Given the description of an element on the screen output the (x, y) to click on. 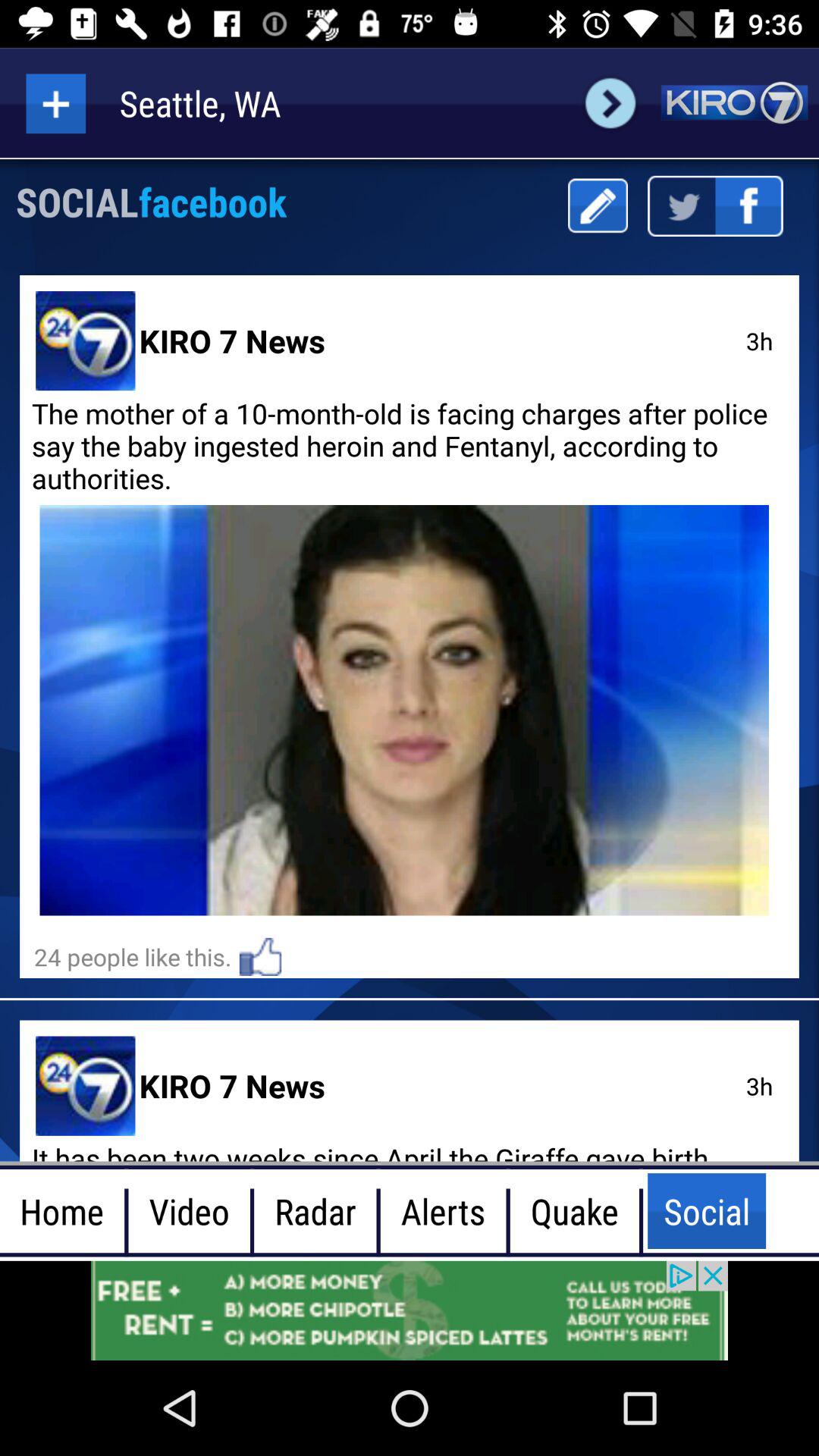
edit (597, 206)
